Given the description of an element on the screen output the (x, y) to click on. 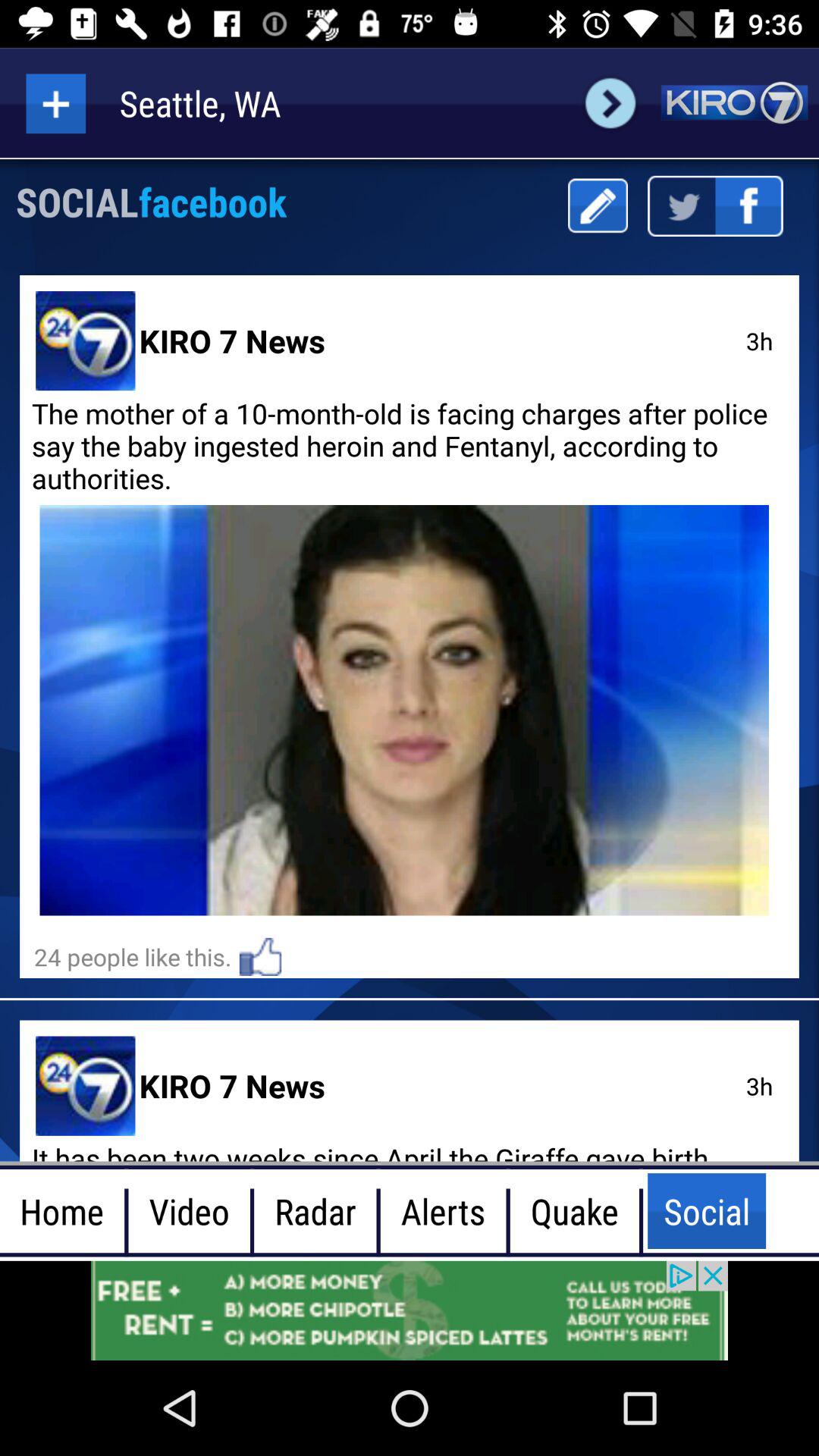
edit (597, 206)
